Given the description of an element on the screen output the (x, y) to click on. 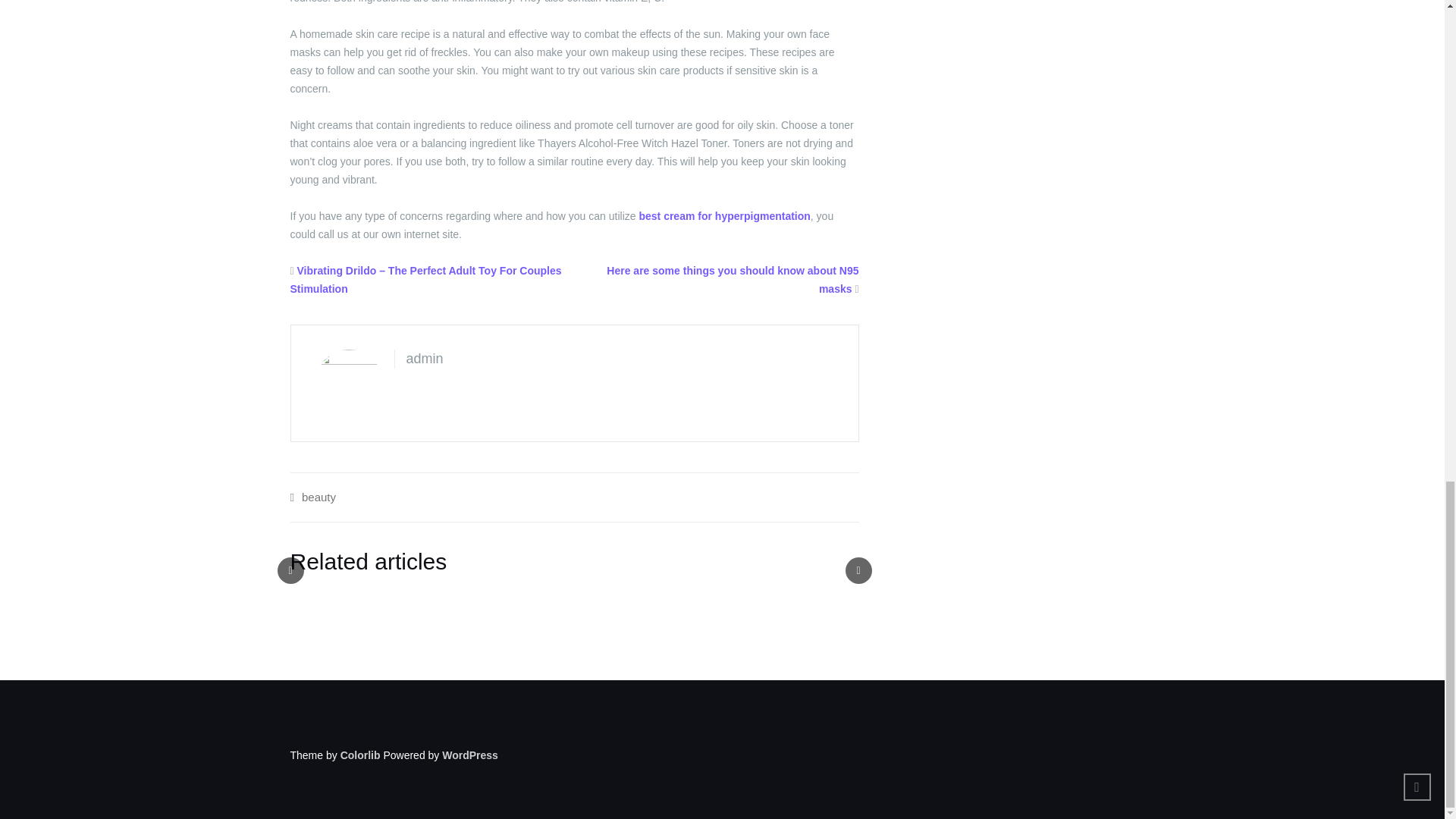
beauty (318, 496)
Here are some things you should know about N95 masks (733, 279)
Colorlib (360, 755)
best cream for hyperpigmentation (724, 215)
WordPress.org (469, 755)
